Given the description of an element on the screen output the (x, y) to click on. 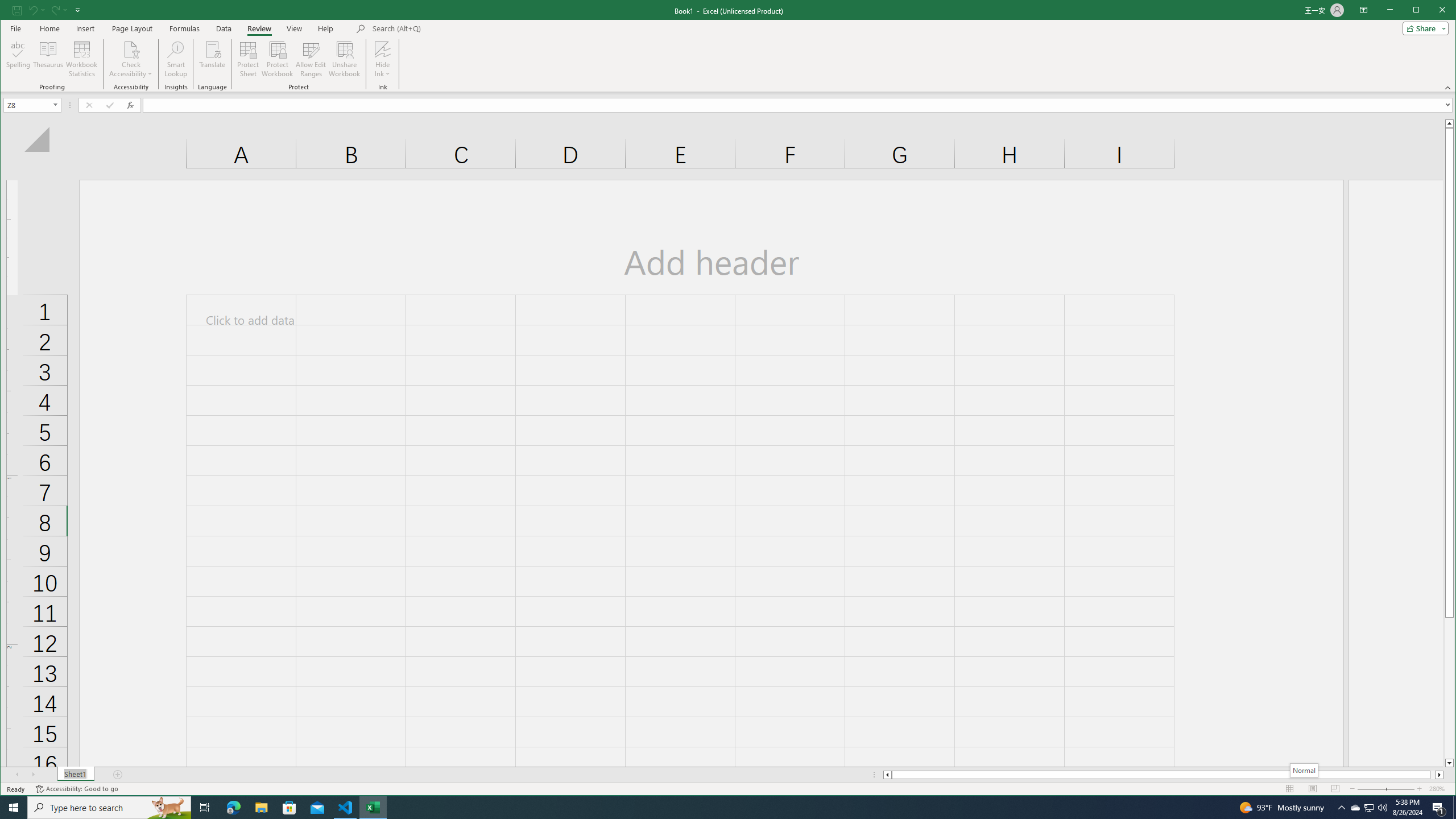
Maximize (1432, 11)
Class: NetUIScrollBar (1163, 774)
Collapse the Ribbon (1448, 87)
Scroll Right (34, 774)
Page right (1432, 774)
Check Accessibility (130, 48)
Sheet1 (75, 774)
Page Break Preview (1334, 788)
Microsoft Edge (233, 807)
